Given the description of an element on the screen output the (x, y) to click on. 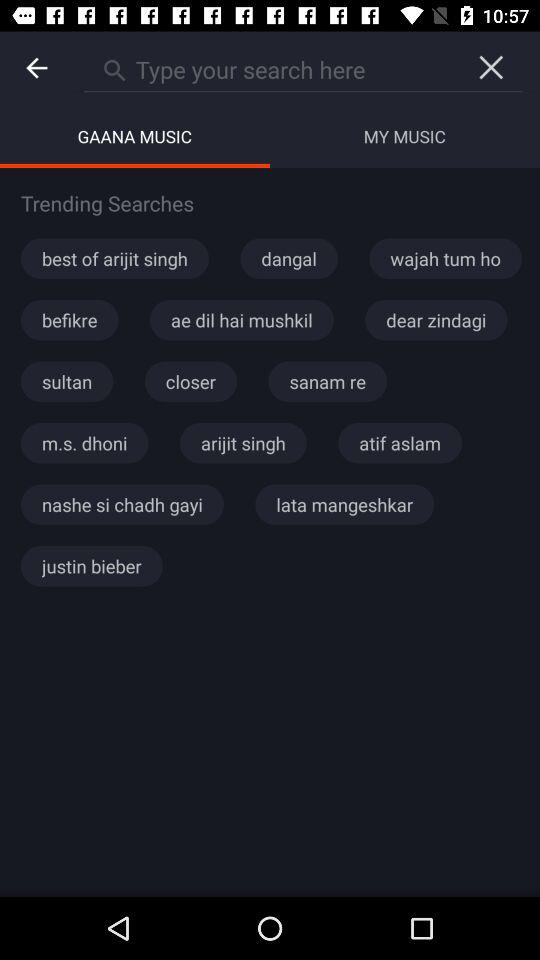
jump to the dangal (288, 258)
